Given the description of an element on the screen output the (x, y) to click on. 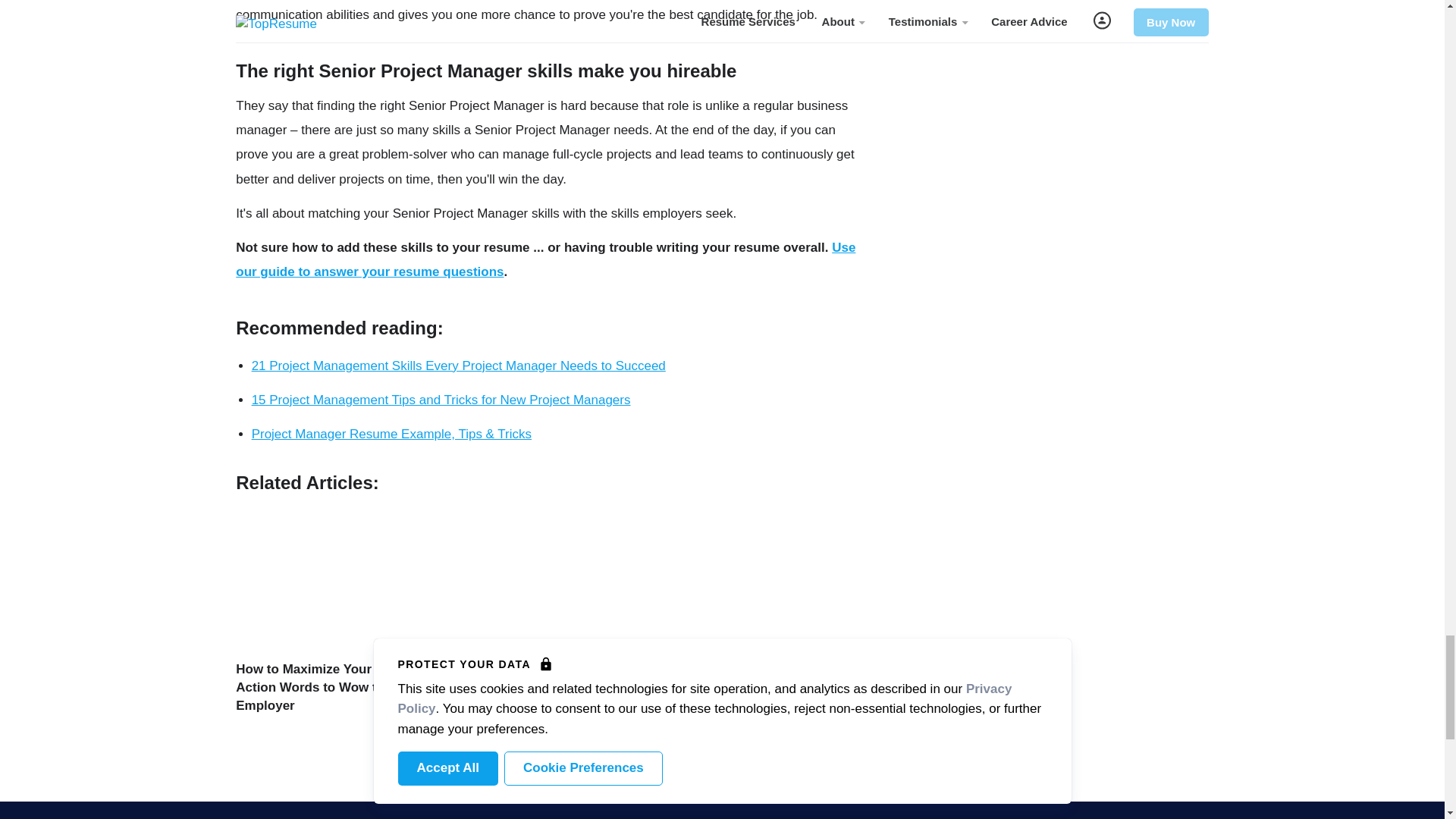
How to Maximize Your Resume Action Words to Wow the Employer (330, 686)
Guide to Writing a Great Resume with No Work Experience (751, 686)
Use our guide to answer your resume questions (545, 259)
